Given the description of an element on the screen output the (x, y) to click on. 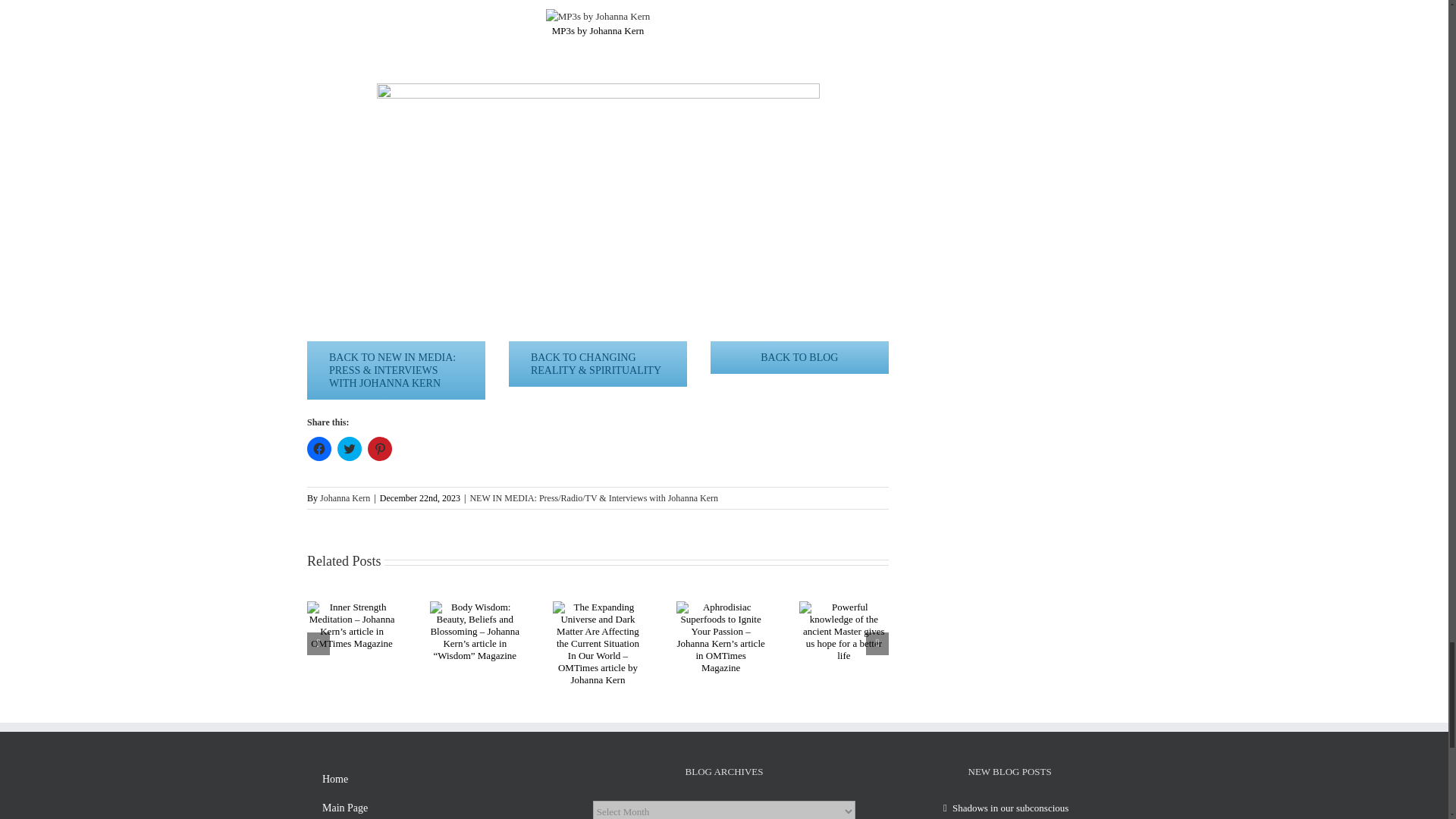
Click to share on Pinterest (379, 448)
Posts by Johanna Kern (344, 498)
Click to share on Twitter (349, 448)
Click to share on Facebook (319, 448)
